Given the description of an element on the screen output the (x, y) to click on. 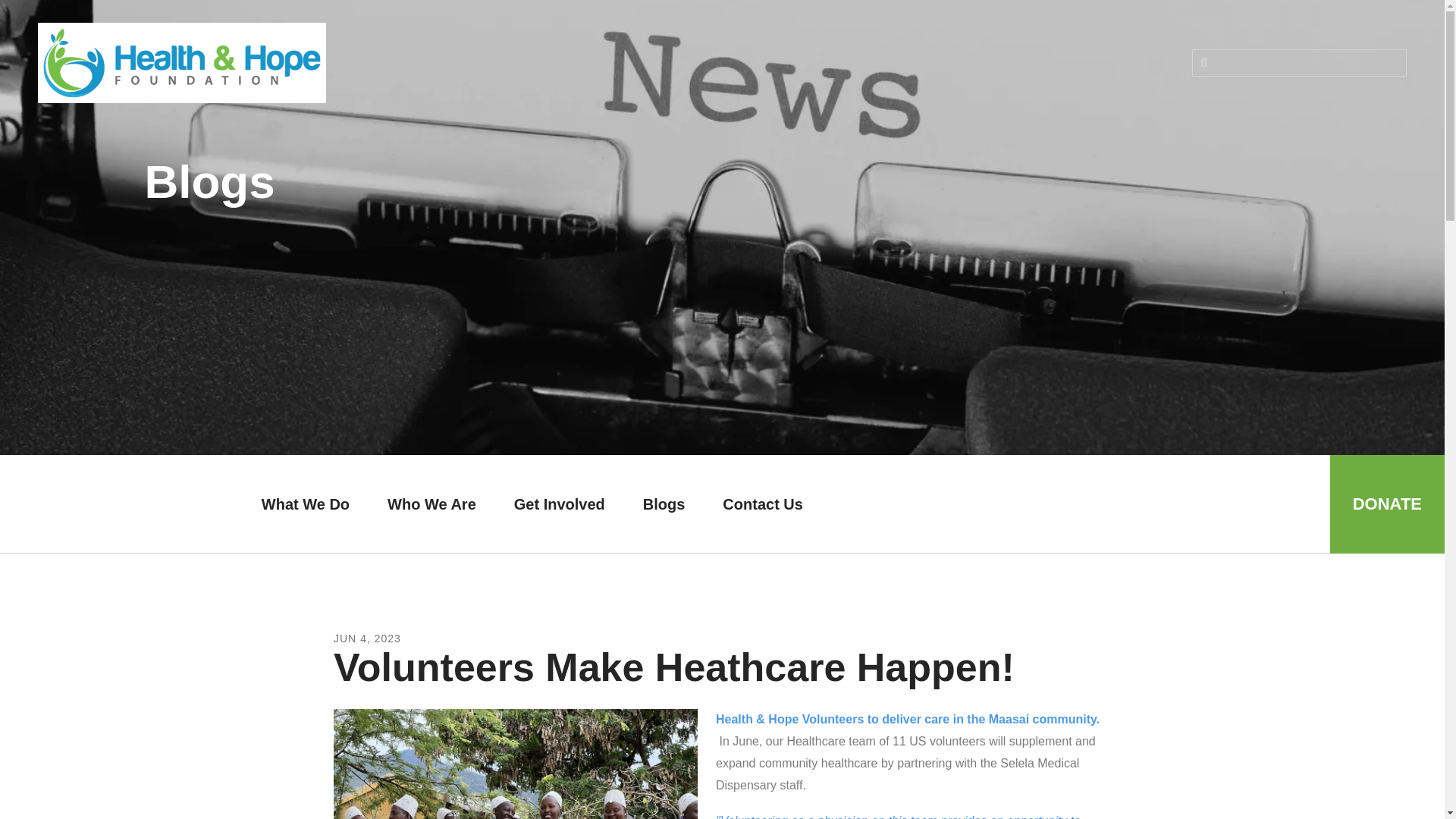
logo (181, 62)
What We Do (305, 504)
Get Involved (559, 504)
Who We Are (431, 504)
